Given the description of an element on the screen output the (x, y) to click on. 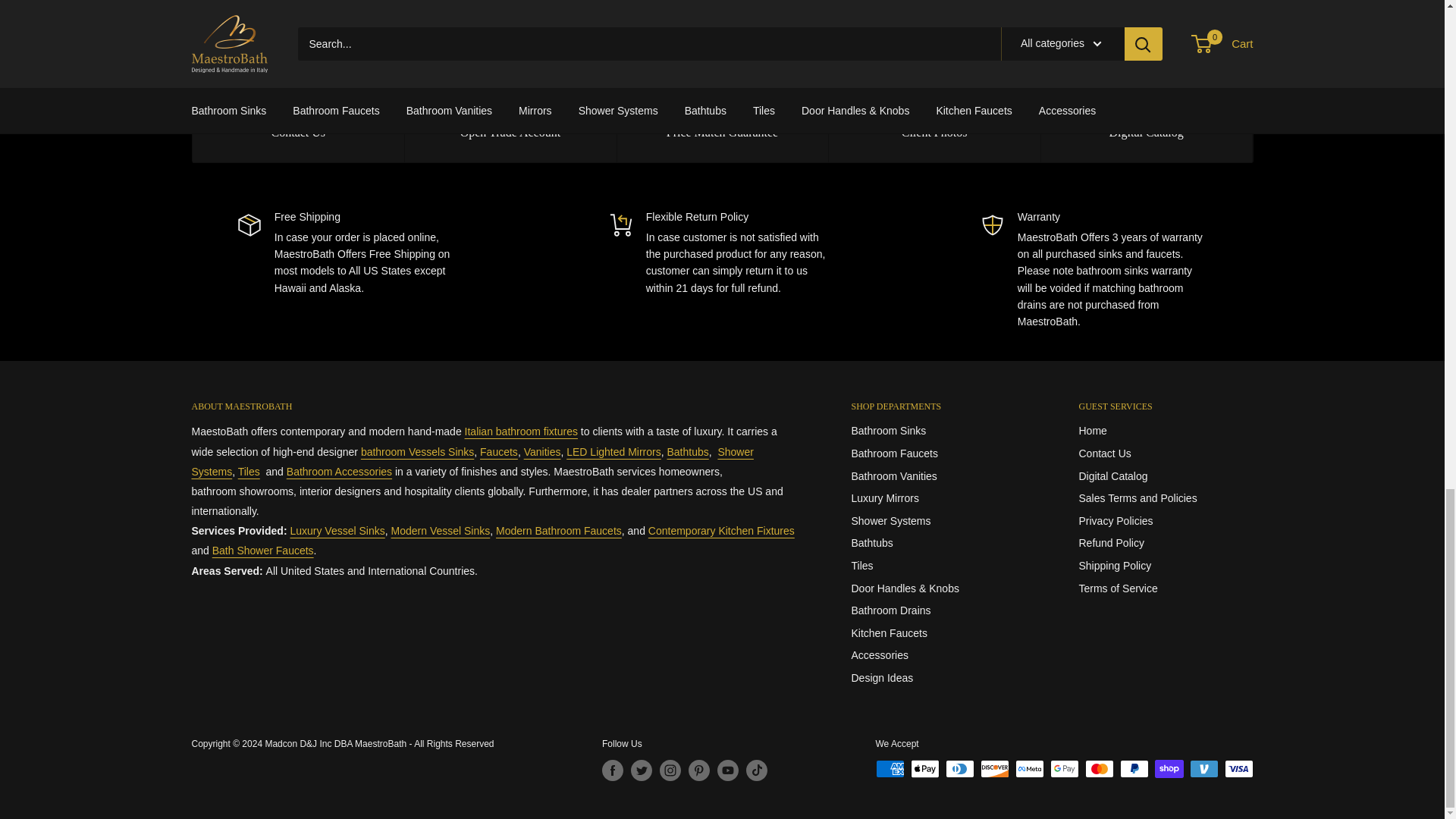
Kitchen Faucets (720, 530)
All Bathroom Faucets (558, 530)
Bathroom Faucets (499, 451)
Shower Systems (263, 550)
Vessel Sinks (440, 530)
Bathtubs (687, 451)
Luxury Mirrors (613, 451)
Luxury Vessel Sinks (336, 530)
Shower Systems (471, 461)
Tiles (249, 471)
Accessories and Hardware (338, 471)
Bathroom Vanities (542, 451)
Vessel Sinks (417, 451)
